Given the description of an element on the screen output the (x, y) to click on. 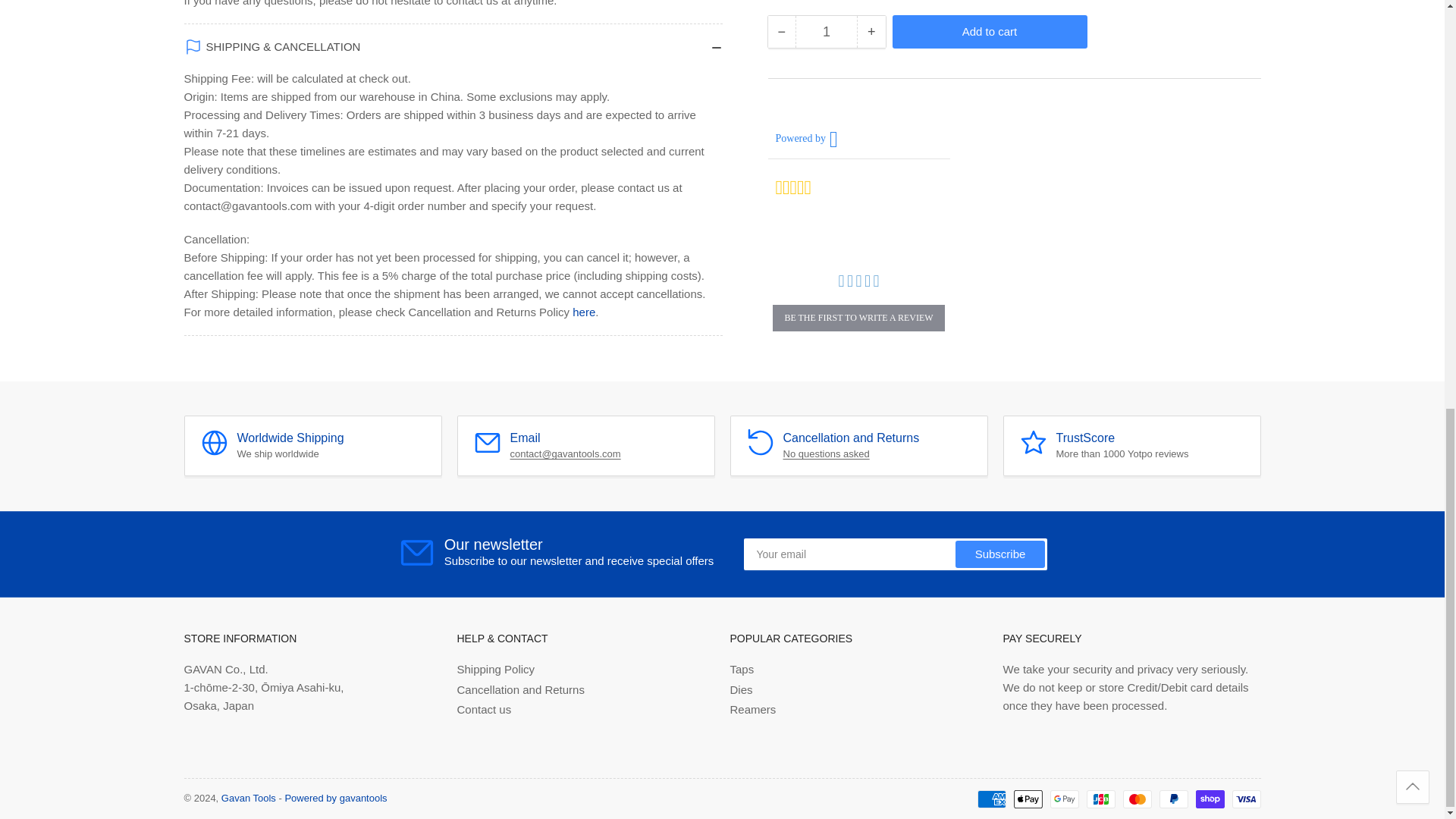
Mastercard (1136, 799)
Shop Pay (1209, 799)
Google Pay (1063, 799)
PayPal (1173, 799)
JCB (1100, 799)
Apple Pay (1027, 799)
American Express (991, 799)
Cancellation and Returns (826, 453)
